Given the description of an element on the screen output the (x, y) to click on. 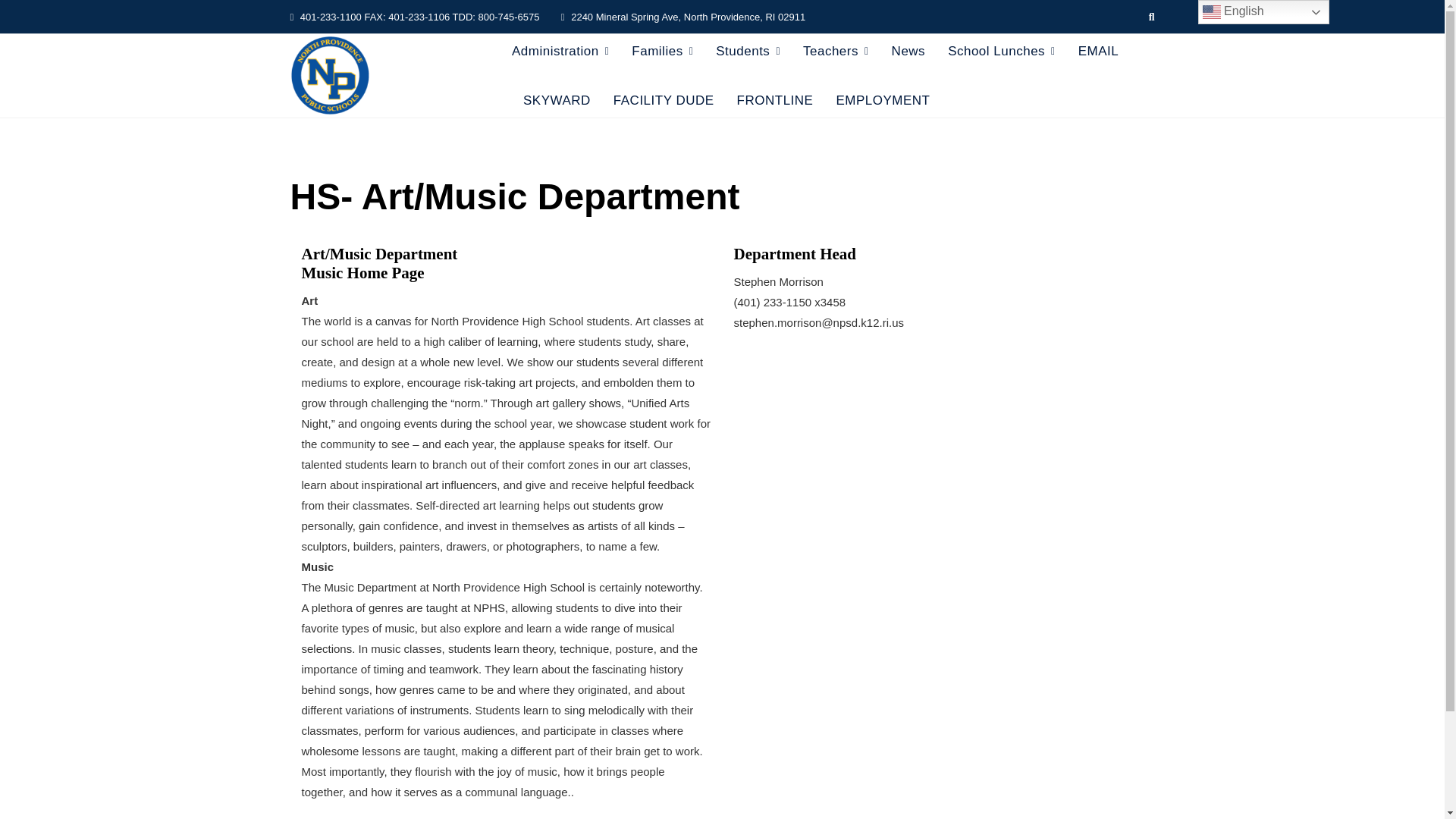
Search (96, 6)
401-233-1100 FAX: 401-233-1106 TDD: 800-745-6575 (413, 16)
